Given the description of an element on the screen output the (x, y) to click on. 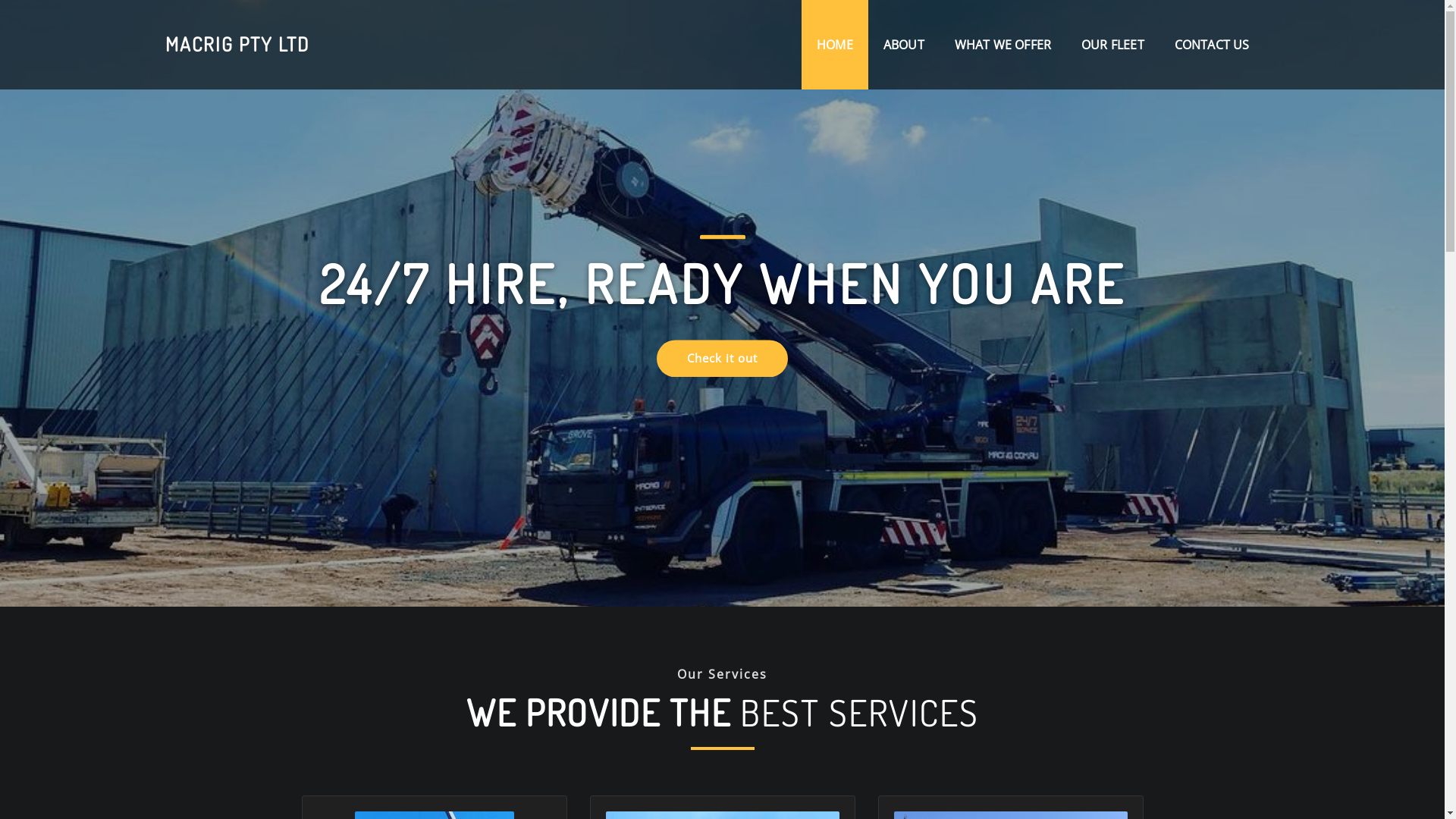
HOME Element type: text (834, 44)
WHAT WE OFFER Element type: text (1002, 44)
ABOUT Element type: text (903, 44)
CONTACT US Element type: text (1211, 44)
OUR FLEET Element type: text (1112, 44)
Check it out Element type: text (721, 393)
MACRIG PTY LTD Element type: text (237, 43)
